Given the description of an element on the screen output the (x, y) to click on. 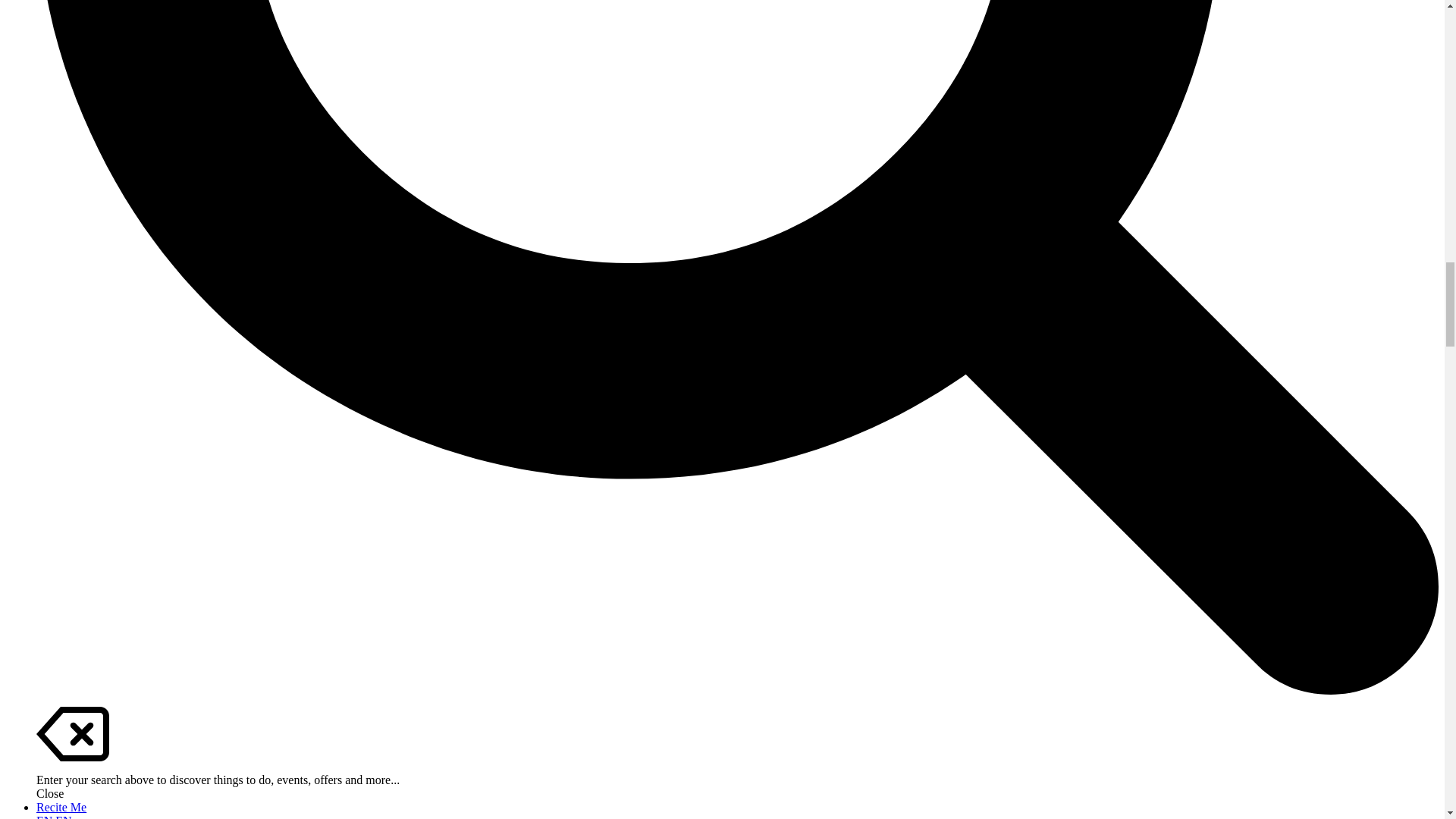
Open the Recite Me Accessibility Toolbar (60, 807)
